Given the description of an element on the screen output the (x, y) to click on. 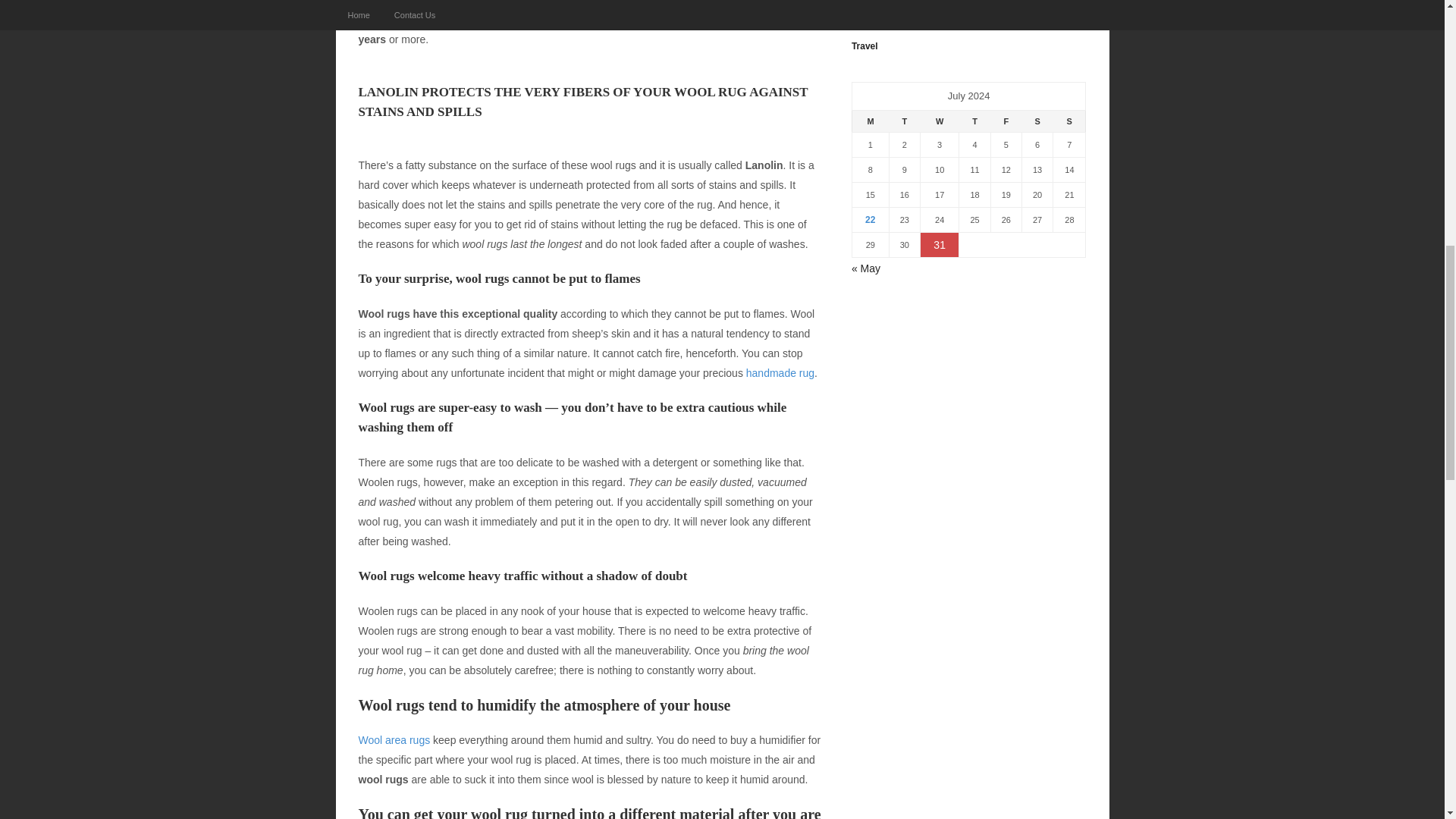
Wool area rugs (393, 739)
handmade rug (779, 372)
